Given the description of an element on the screen output the (x, y) to click on. 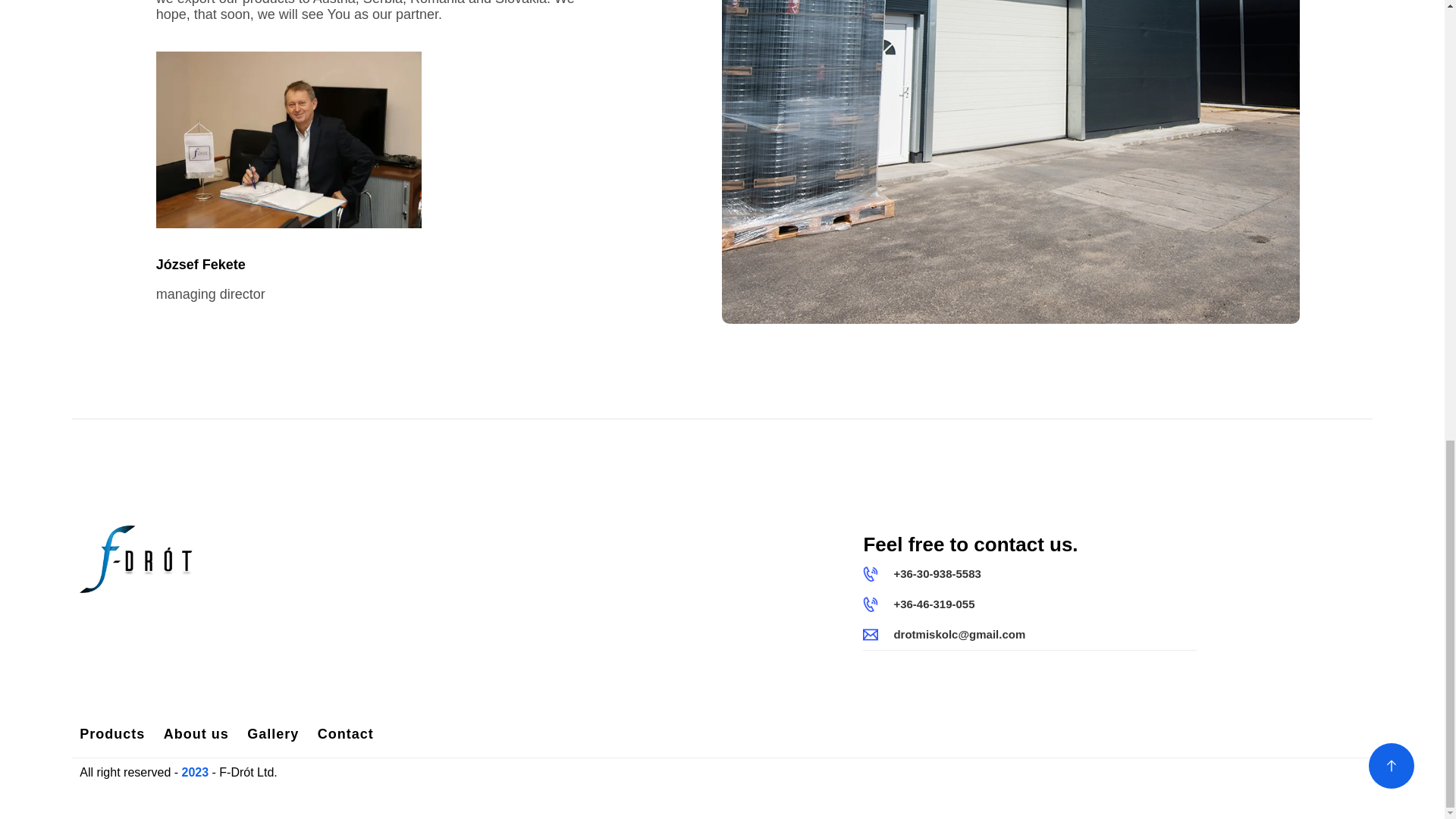
Products (111, 734)
Contact (345, 734)
Gallery (272, 734)
About us (195, 734)
